Given the description of an element on the screen output the (x, y) to click on. 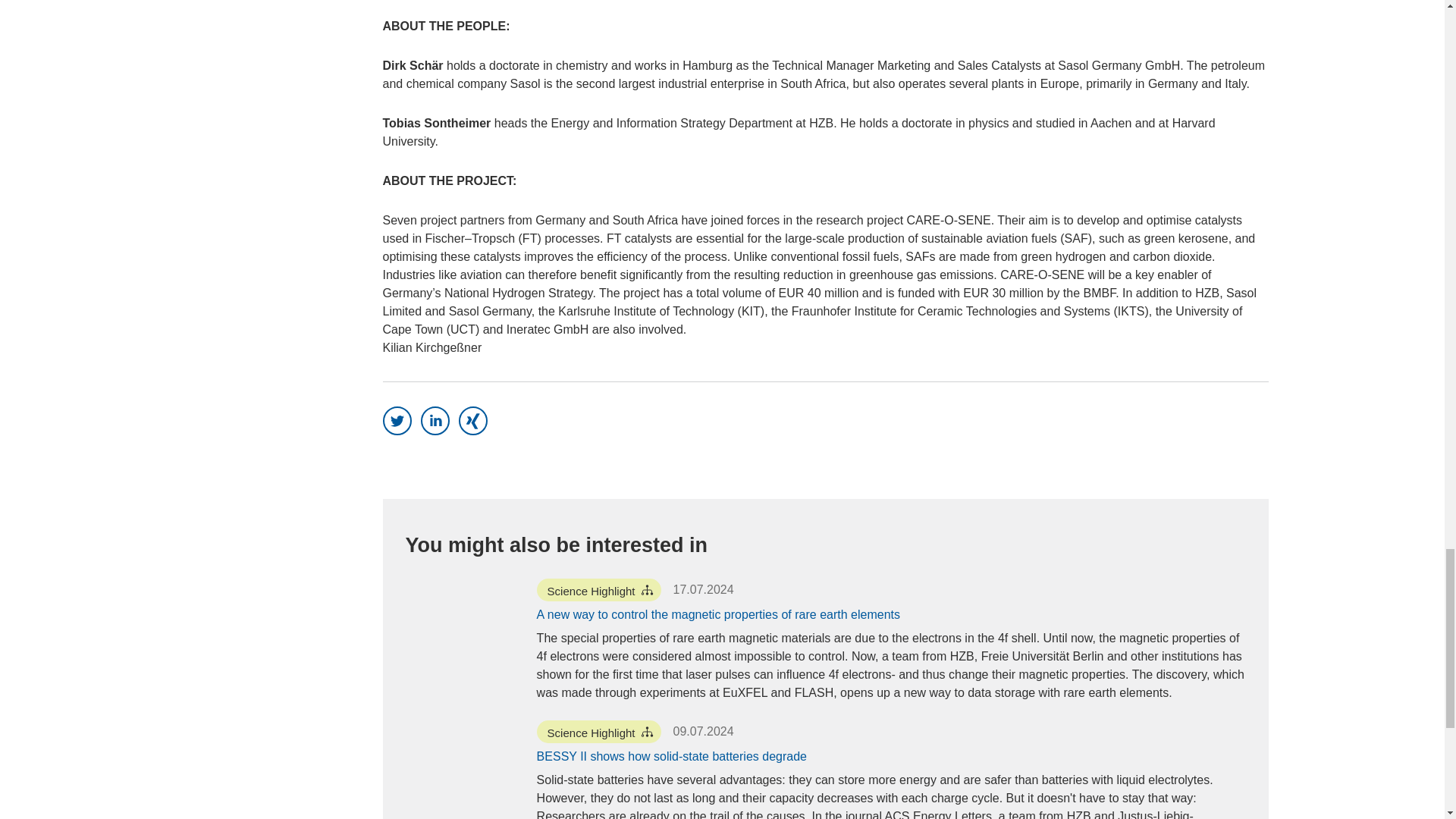
BESSY II shows how solid-state batteries degrade (671, 756)
